Given the description of an element on the screen output the (x, y) to click on. 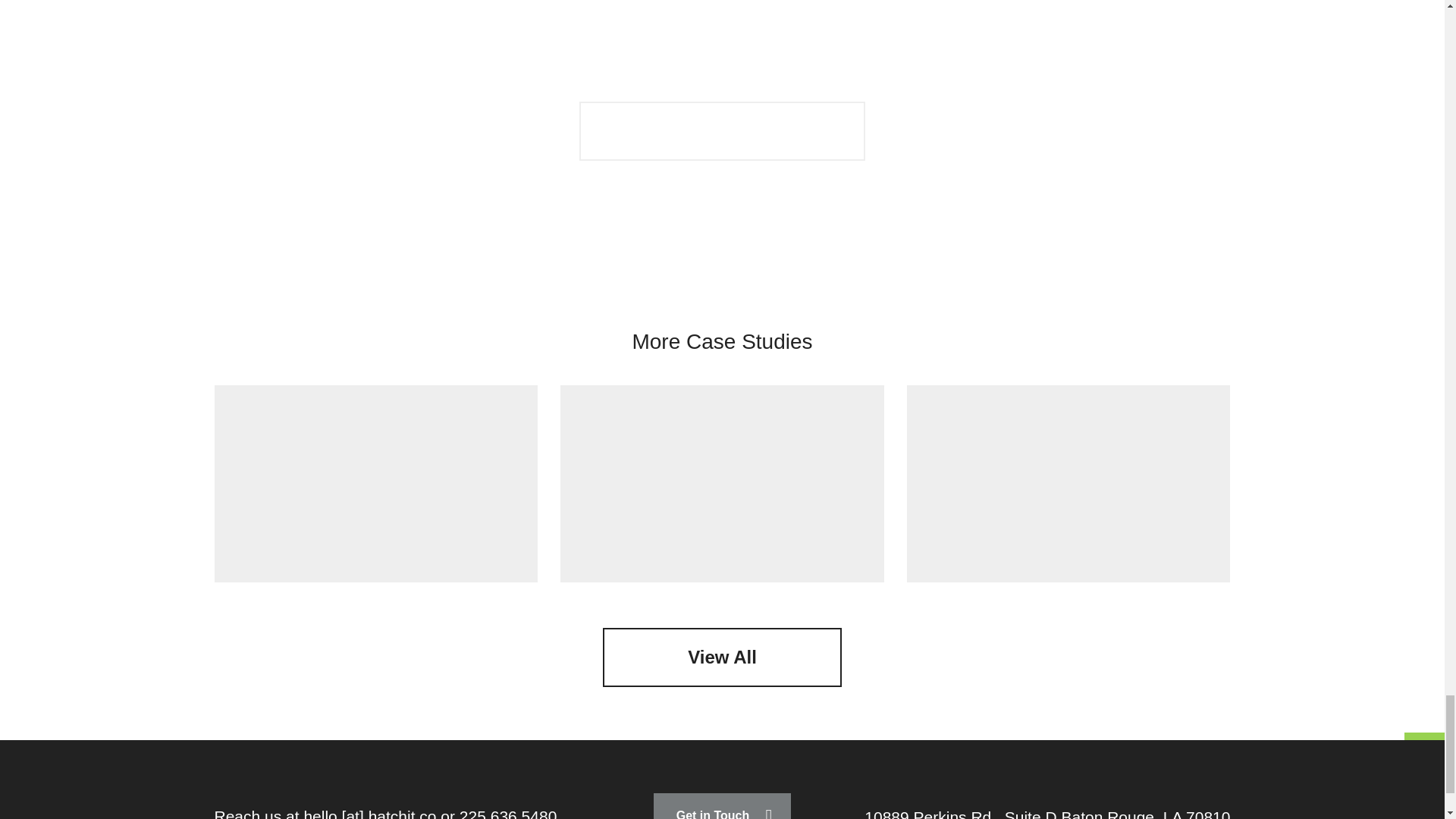
View All (721, 657)
Start a Project (721, 130)
Get in Touch (722, 806)
